Given the description of an element on the screen output the (x, y) to click on. 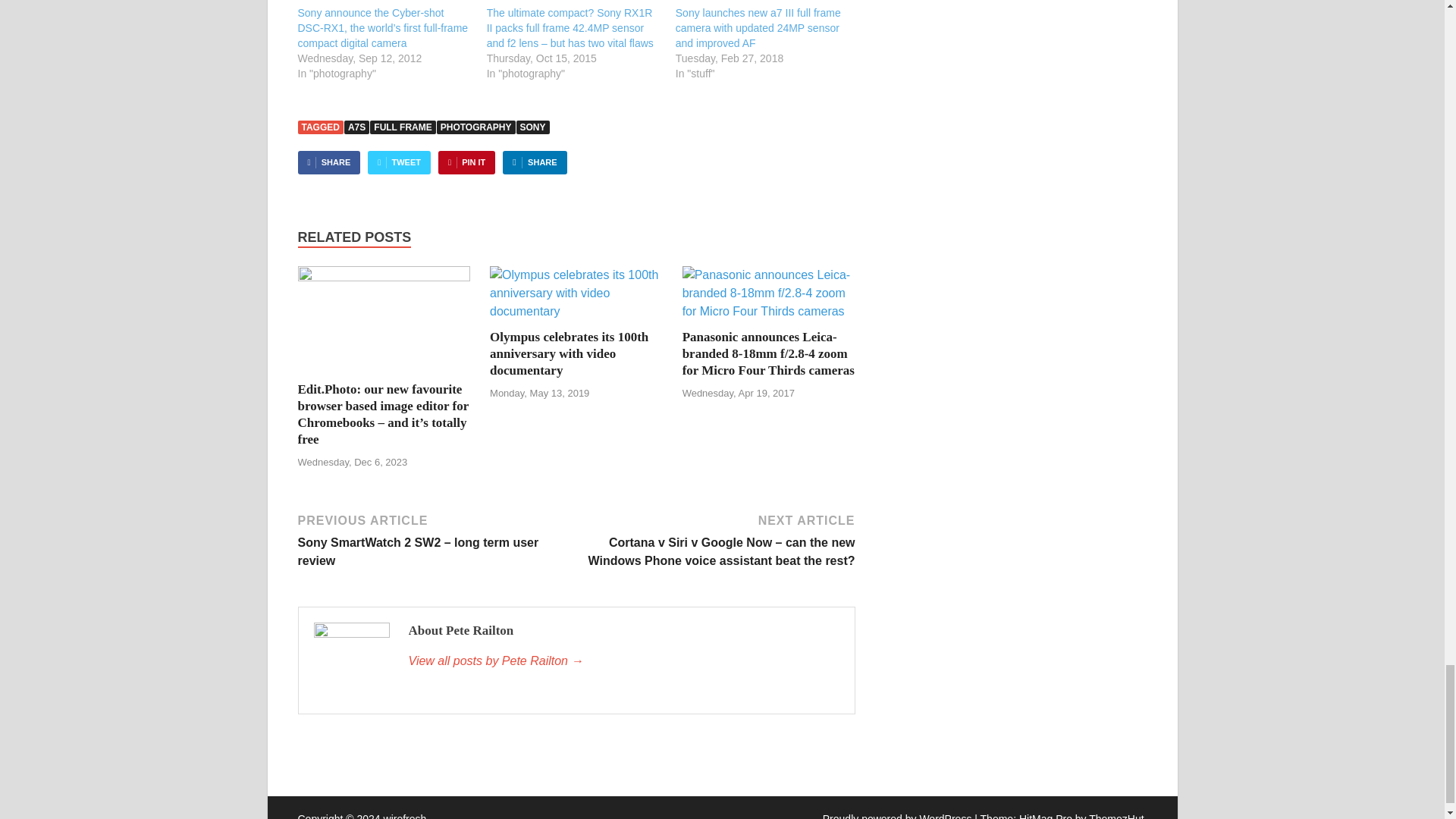
Pete Railton (622, 660)
A7S (356, 127)
TWEET (399, 162)
FULL FRAME (402, 127)
SHARE (328, 162)
SHARE (534, 162)
PIN IT (466, 162)
SONY (533, 127)
PHOTOGRAPHY (475, 127)
